Given the description of an element on the screen output the (x, y) to click on. 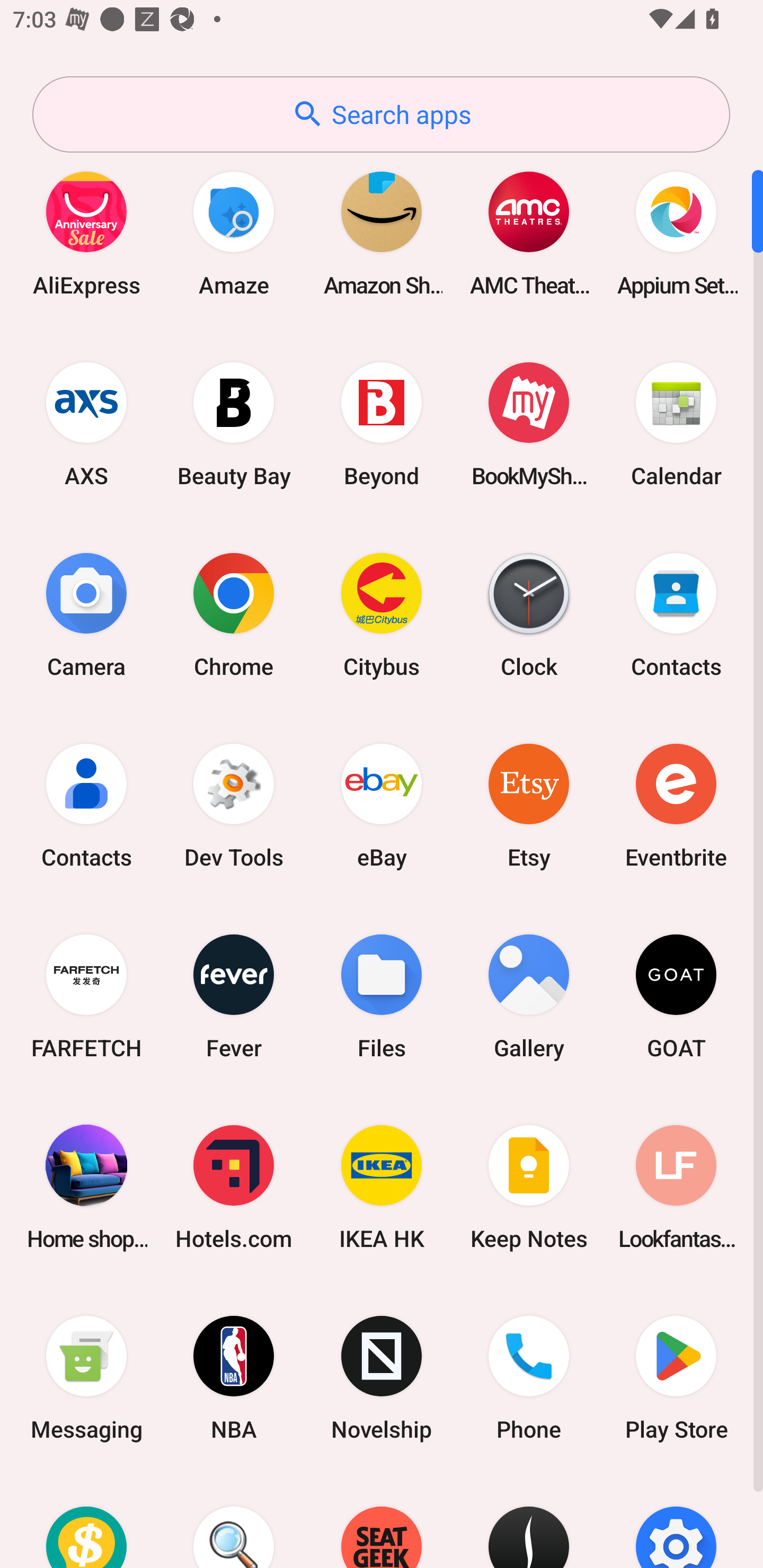
  Search apps (381, 114)
AliExpress (86, 233)
Amaze (233, 233)
Amazon Shopping (381, 233)
AMC Theatres (528, 233)
Appium Settings (676, 233)
AXS (86, 424)
Beauty Bay (233, 424)
Beyond (381, 424)
BookMyShow (528, 424)
Calendar (676, 424)
Camera (86, 614)
Chrome (233, 614)
Citybus (381, 614)
Clock (528, 614)
Contacts (676, 614)
Contacts (86, 805)
Dev Tools (233, 805)
eBay (381, 805)
Etsy (528, 805)
Eventbrite (676, 805)
FARFETCH (86, 996)
Fever (233, 996)
Files (381, 996)
Gallery (528, 996)
GOAT (676, 996)
Home shopping (86, 1186)
Hotels.com (233, 1186)
IKEA HK (381, 1186)
Keep Notes (528, 1186)
Lookfantastic (676, 1186)
Messaging (86, 1377)
NBA (233, 1377)
Novelship (381, 1377)
Phone (528, 1377)
Play Store (676, 1377)
